Given the description of an element on the screen output the (x, y) to click on. 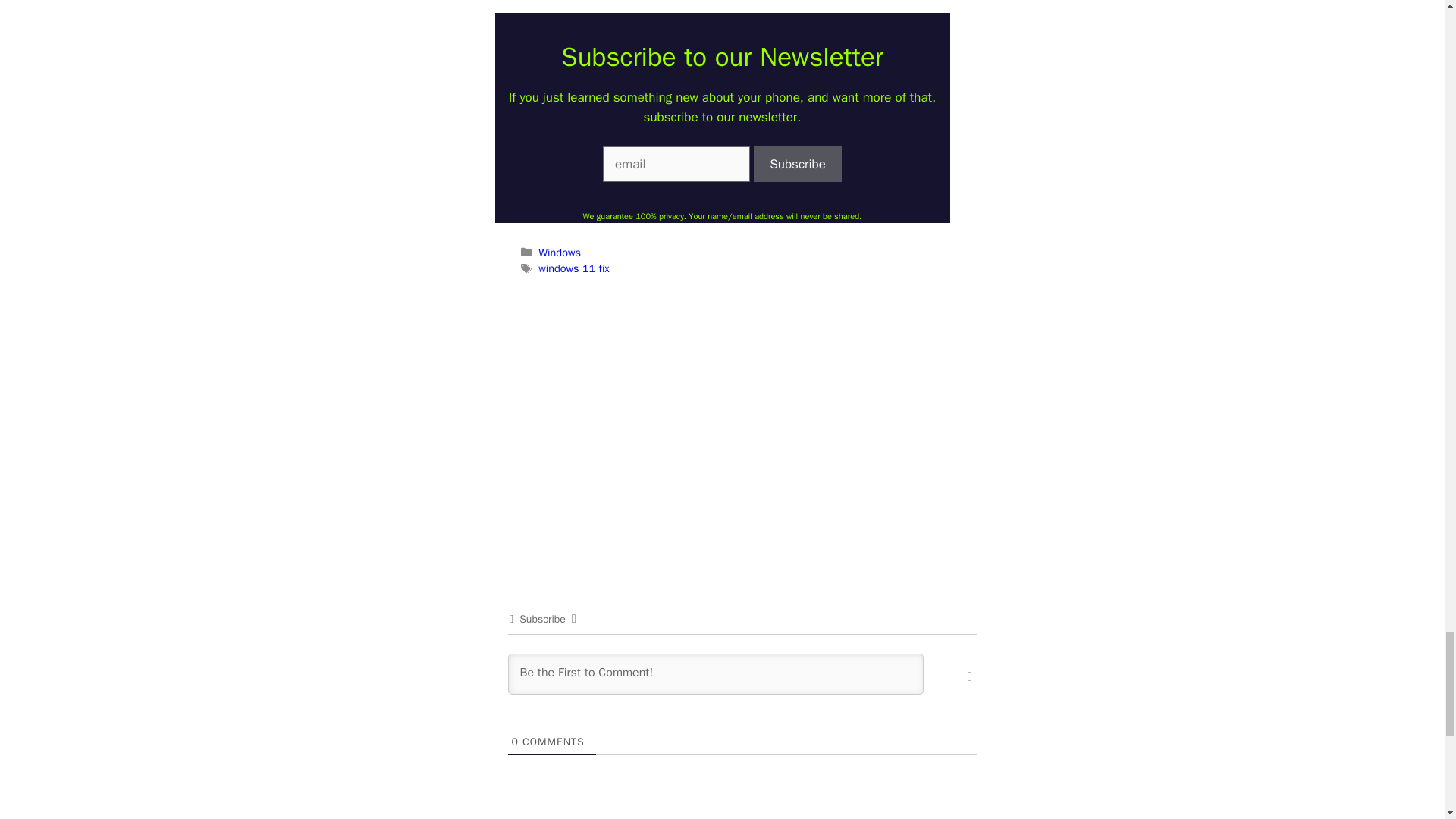
Subscribe (797, 164)
Windows (559, 252)
Subscribe (797, 164)
windows 11 fix (573, 268)
